Given the description of an element on the screen output the (x, y) to click on. 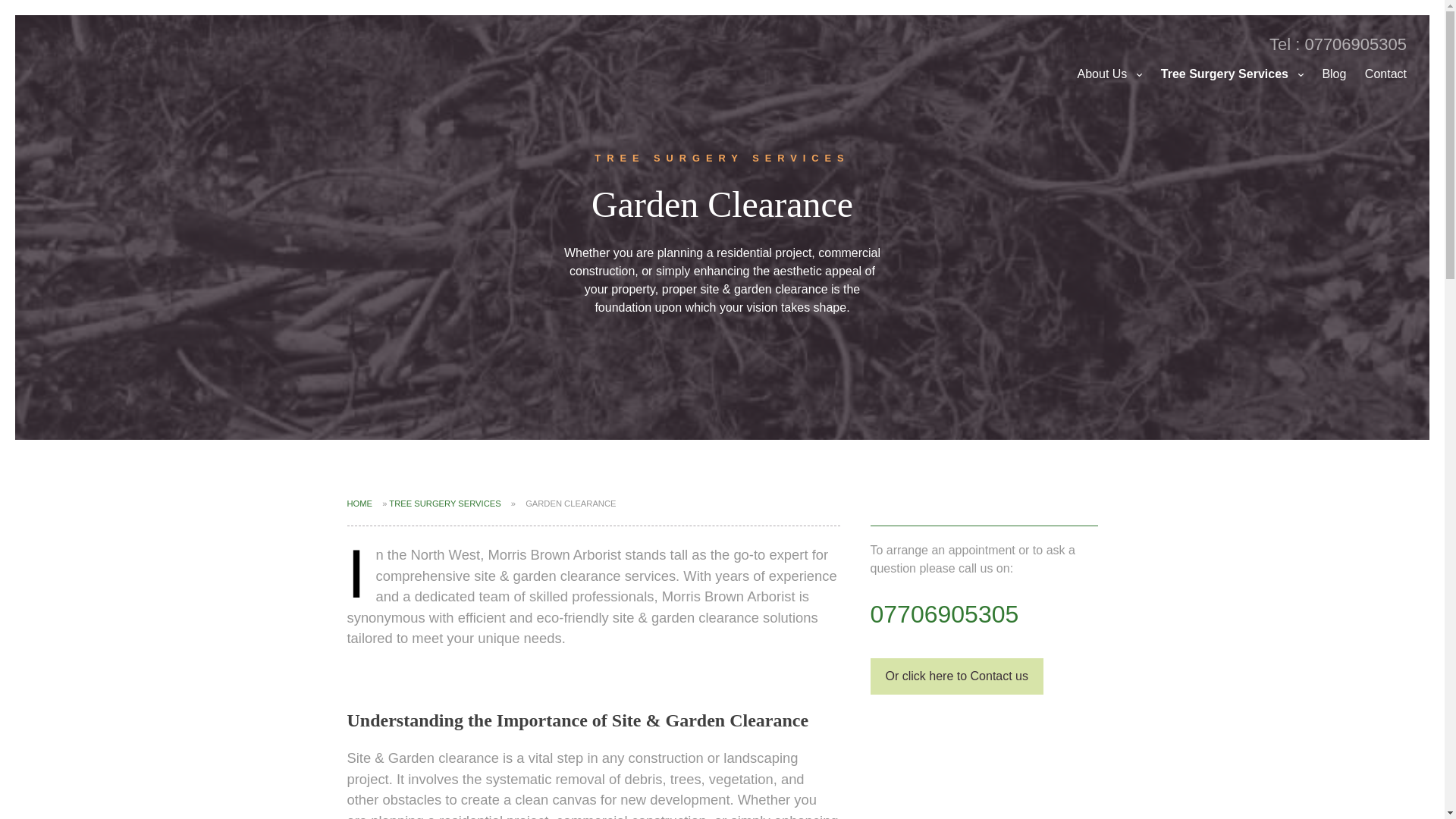
07706905305 (944, 614)
HOME (359, 502)
TREE SURGERY SERVICES (444, 502)
Tel : 07706905305 (1337, 44)
Tree Surgery Services (1232, 73)
Blog (1334, 73)
Morris Brown Arborists (113, 60)
About Us (1110, 73)
Contact (1384, 73)
